Given the description of an element on the screen output the (x, y) to click on. 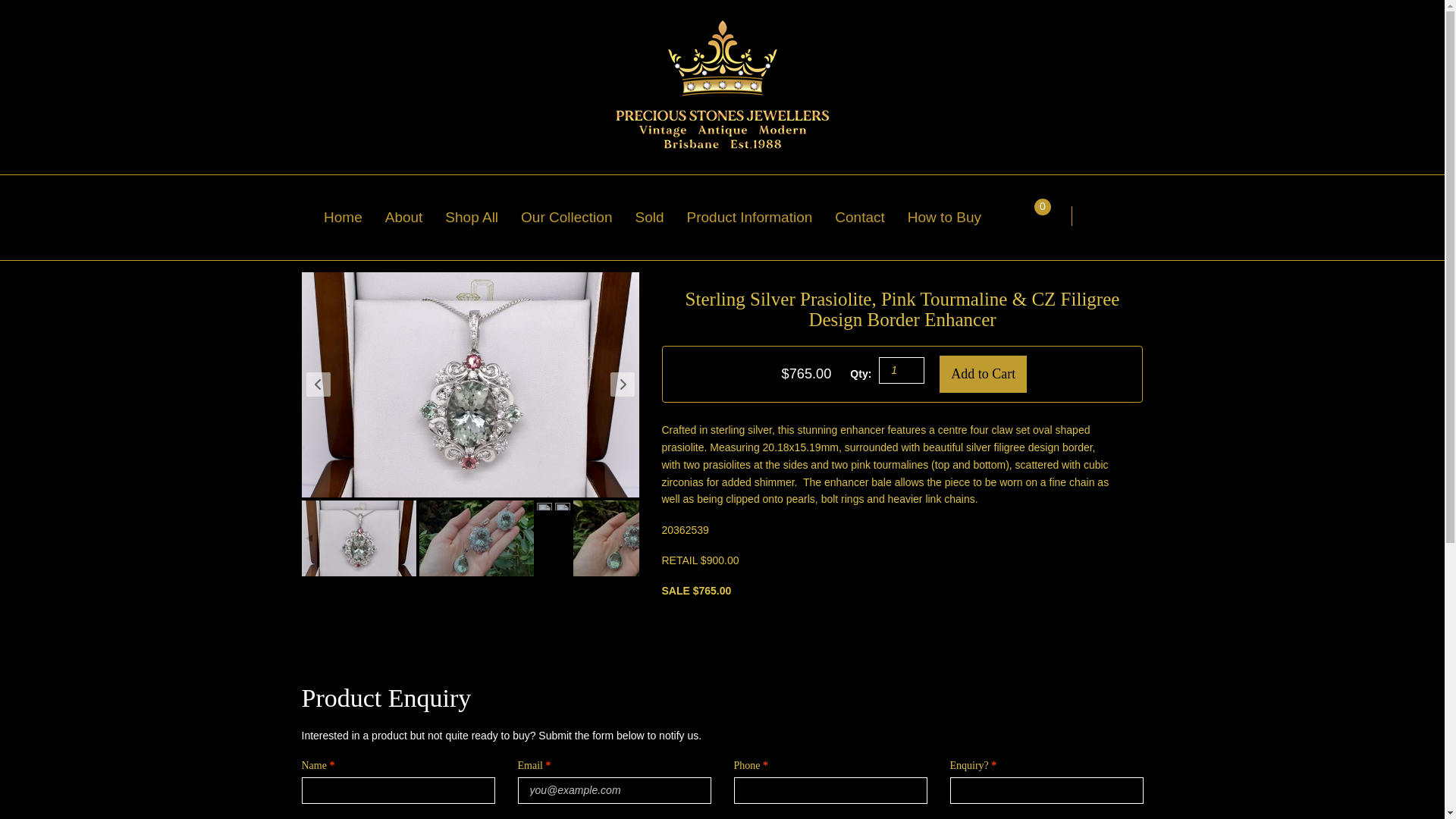
Contact (870, 217)
1 (901, 370)
How to Buy (955, 217)
Product Information (761, 217)
Shop All (483, 217)
About (415, 217)
Our Collection (577, 217)
Home (354, 217)
Sold (659, 217)
